Given the description of an element on the screen output the (x, y) to click on. 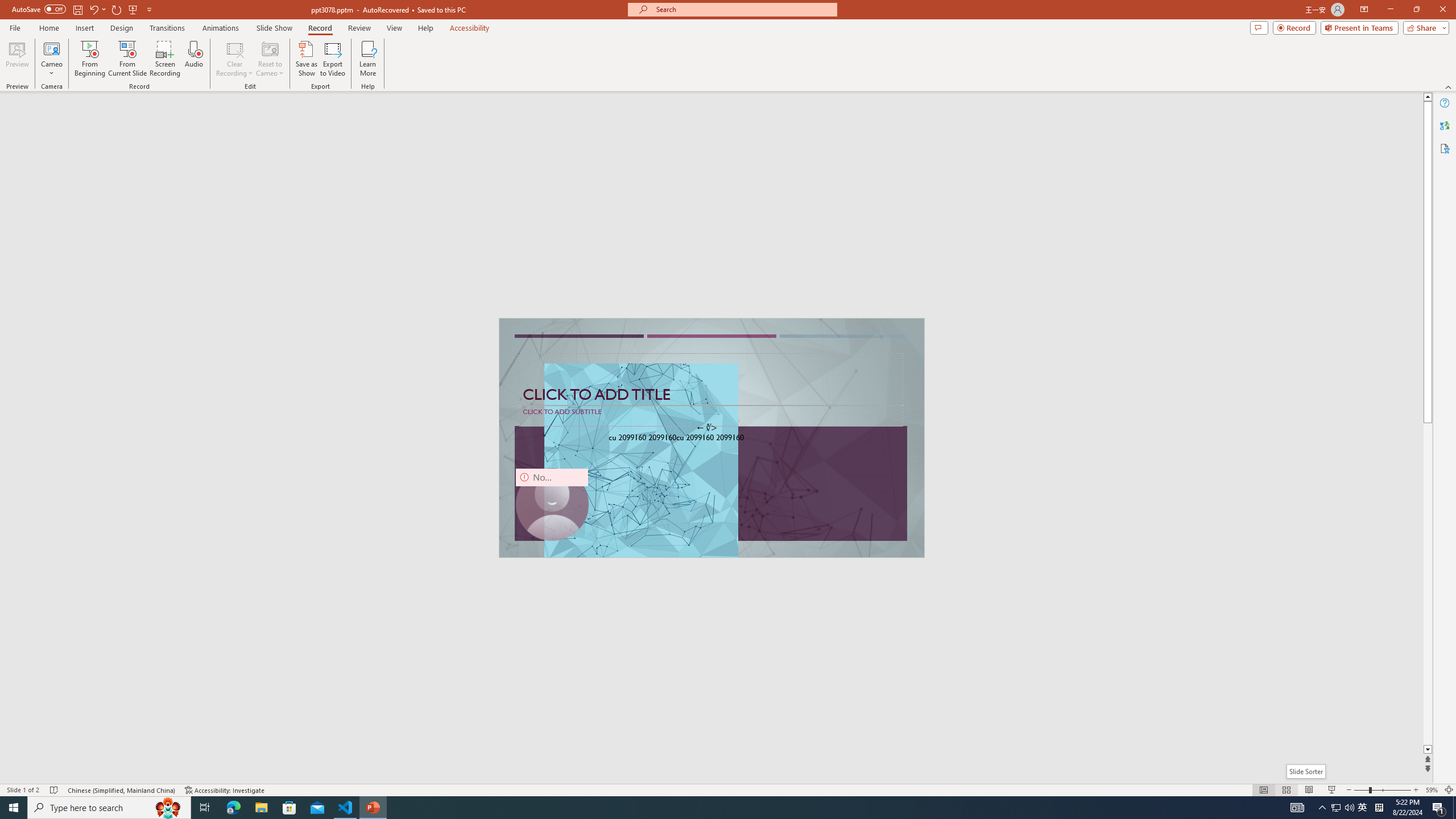
Application Menu (76, 183)
Debug Console (Ctrl+Shift+Y) (486, 533)
Copilot (Ctrl+Shift+.) (1434, 46)
644553698@qq.com (1094, 382)
